Given the description of an element on the screen output the (x, y) to click on. 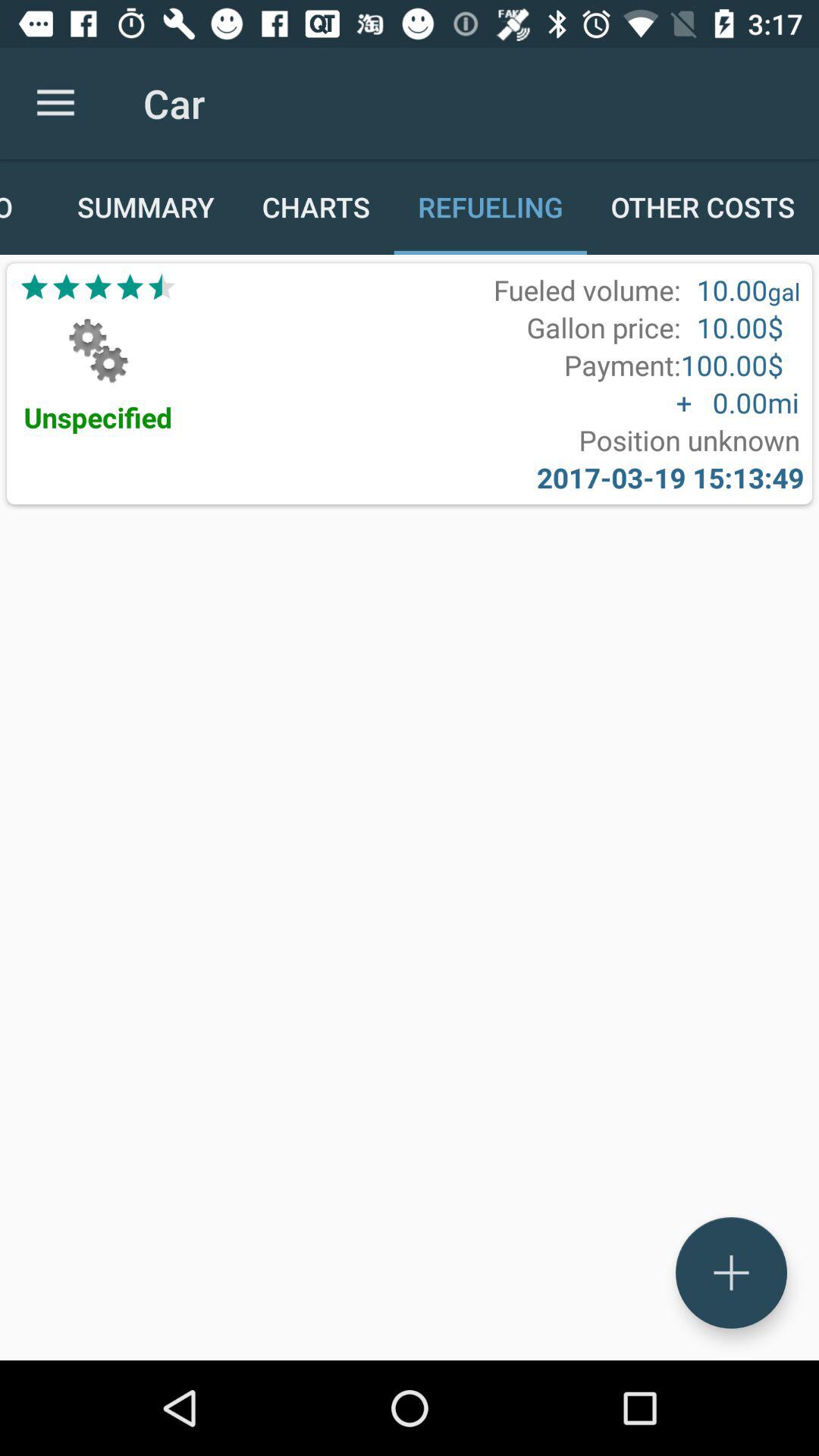
press item to the left of the car icon (55, 103)
